Given the description of an element on the screen output the (x, y) to click on. 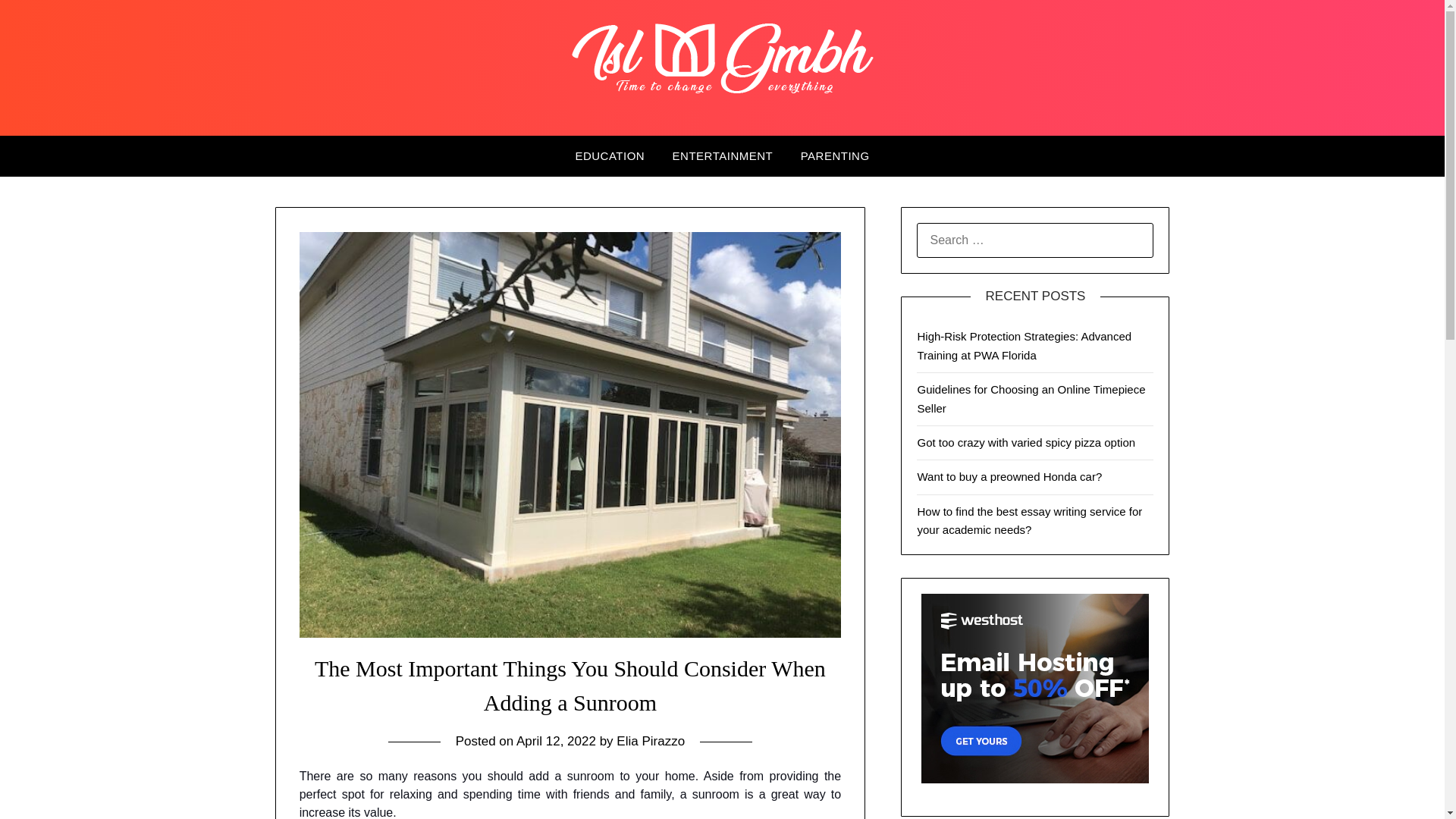
Want to buy a preowned Honda car? (1009, 476)
Got too crazy with varied spicy pizza option (1026, 441)
Search (38, 22)
ENTERTAINMENT (723, 155)
April 12, 2022 (555, 740)
EDUCATION (609, 155)
Guidelines for Choosing an Online Timepiece Seller (1030, 398)
Elia Pirazzo (649, 740)
PARENTING (835, 155)
